Given the description of an element on the screen output the (x, y) to click on. 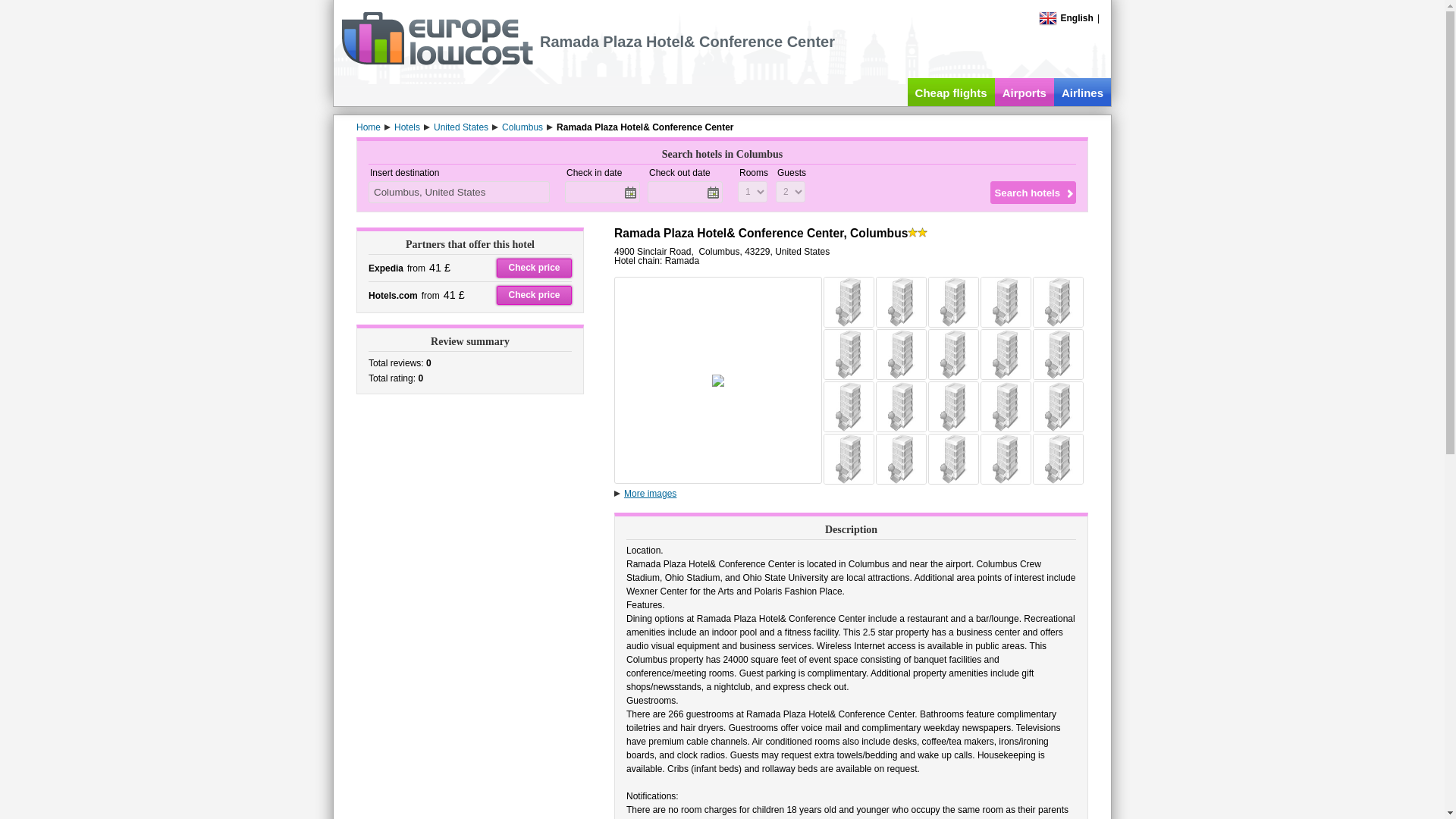
Check price (534, 294)
Search hotels (1033, 191)
Home (368, 127)
United States (460, 127)
Europelowcost.co.uk (436, 61)
Cheap flights (950, 91)
Hotels (407, 127)
Columbus (522, 127)
Airlines (1082, 91)
Airports (1024, 91)
Cheap flights (950, 91)
Check price (534, 267)
Airports (1024, 91)
Search hotels (1033, 191)
Columbus, United States (459, 191)
